Given the description of an element on the screen output the (x, y) to click on. 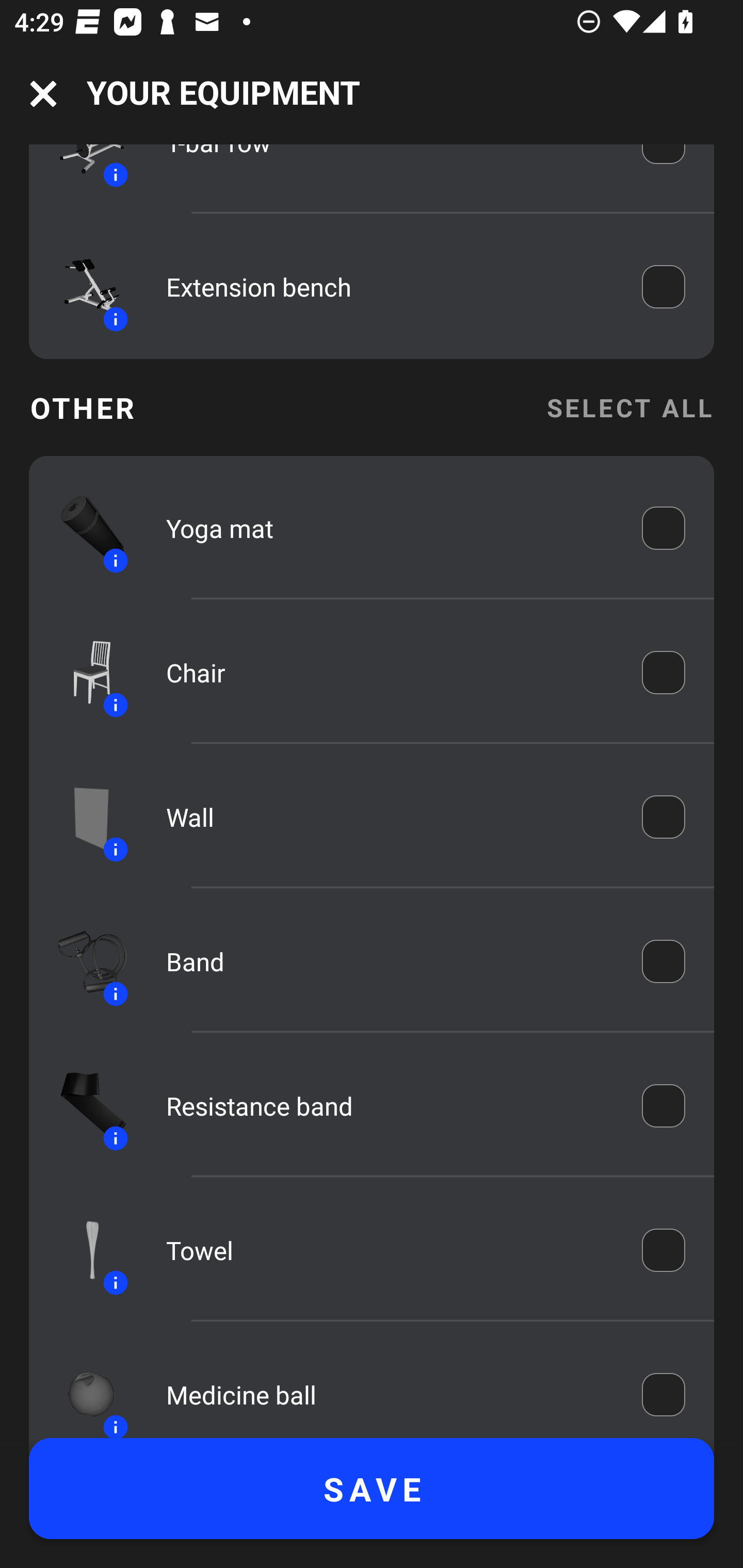
Navigation icon (43, 93)
Equipment icon Information icon (82, 286)
Extension bench (389, 286)
SELECT ALL (629, 407)
Equipment icon Information icon (82, 527)
Yoga mat (389, 527)
Equipment icon Information icon (82, 671)
Chair (389, 672)
Equipment icon Information icon (82, 817)
Wall (389, 816)
Equipment icon Information icon (82, 961)
Band (389, 961)
Equipment icon Information icon (82, 1106)
Resistance band (389, 1106)
Equipment icon Information icon (82, 1250)
Towel (389, 1250)
Equipment icon Information icon (82, 1388)
Medicine ball (389, 1394)
SAVE (371, 1488)
